Given the description of an element on the screen output the (x, y) to click on. 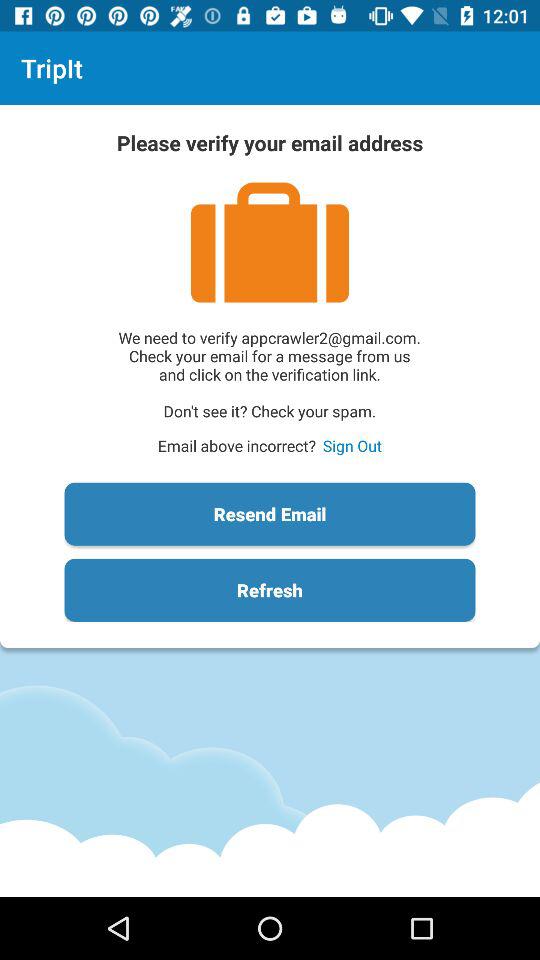
press item above resend email item (352, 445)
